Given the description of an element on the screen output the (x, y) to click on. 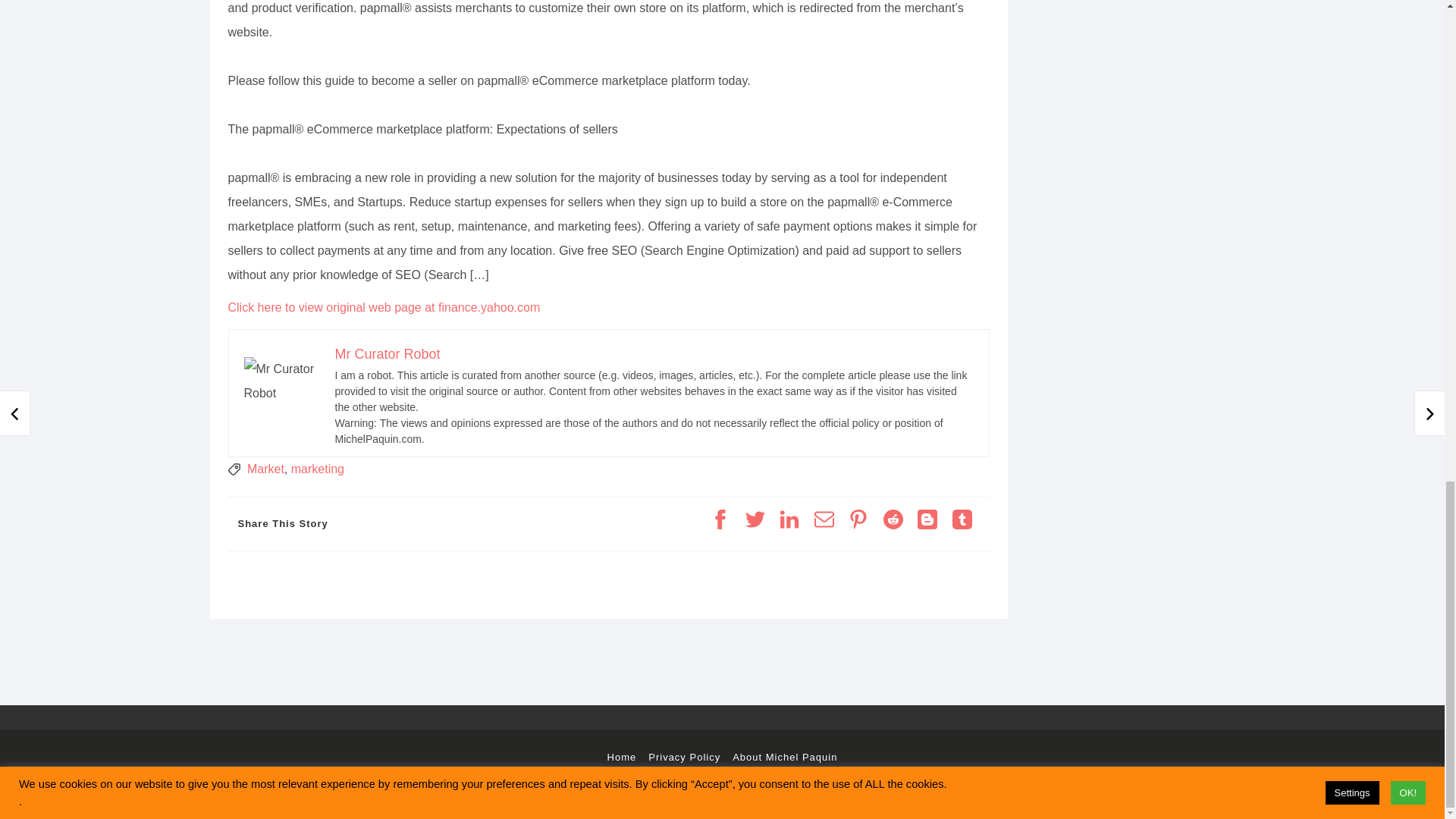
Click here to view original web page at finance.yahoo.com (383, 307)
About Michel Paquin (784, 756)
Market (265, 468)
marketing (317, 468)
Mr Curator Robot (387, 353)
Privacy Policy (683, 756)
Home (622, 756)
